Given the description of an element on the screen output the (x, y) to click on. 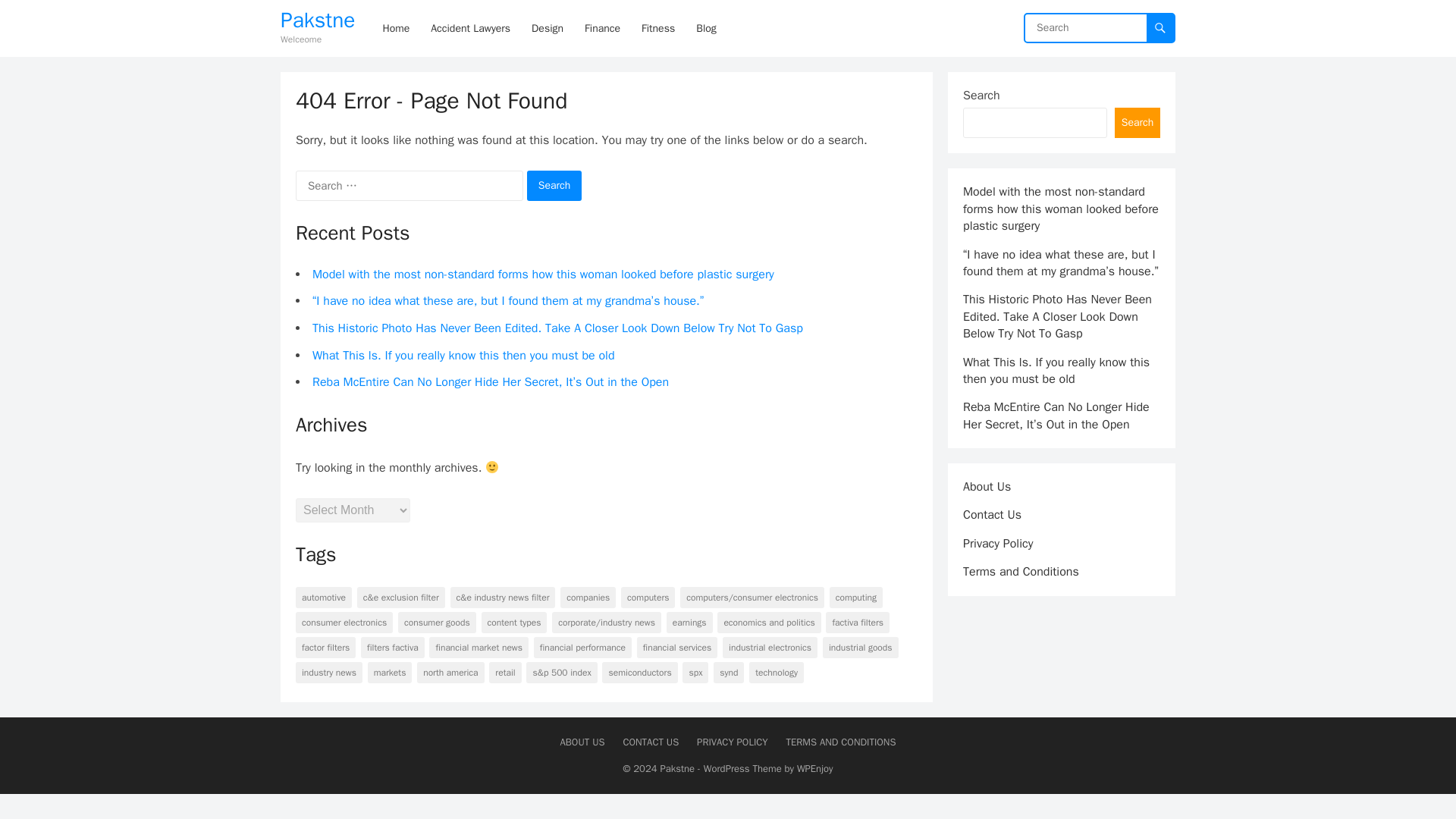
What This ls. If you really know this then you must be old (463, 355)
consumer goods (436, 622)
Search (554, 185)
consumer electronics (344, 622)
Pakstne (318, 20)
computers (648, 597)
Search (554, 185)
financial market news (478, 647)
Search (554, 185)
automotive (323, 597)
Fitness (657, 28)
economics and politics (769, 622)
computing (855, 597)
